Given the description of an element on the screen output the (x, y) to click on. 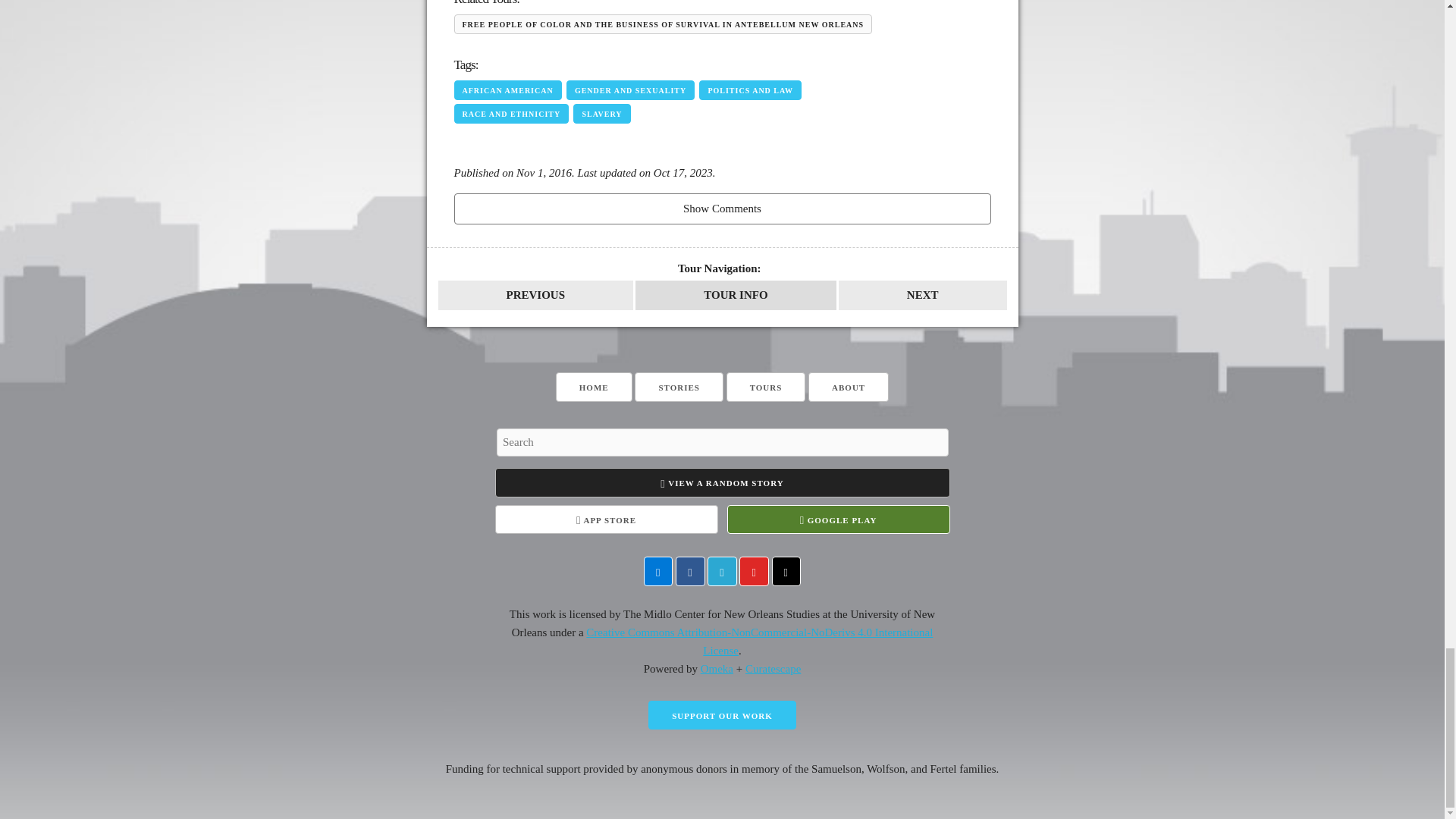
AFRICAN AMERICAN (506, 89)
Show Comments (721, 208)
NEXT (922, 295)
POLITICS AND LAW (750, 89)
TOUR INFO (734, 295)
PREVIOUS (535, 295)
VIEW A RANDOM STORY (722, 482)
ABOUT (848, 387)
GENDER AND SEXUALITY (630, 89)
SLAVERY (601, 113)
RACE AND ETHNICITY (510, 113)
TOURS (766, 387)
Click to load the comments section (721, 208)
HOME (593, 387)
